Given the description of an element on the screen output the (x, y) to click on. 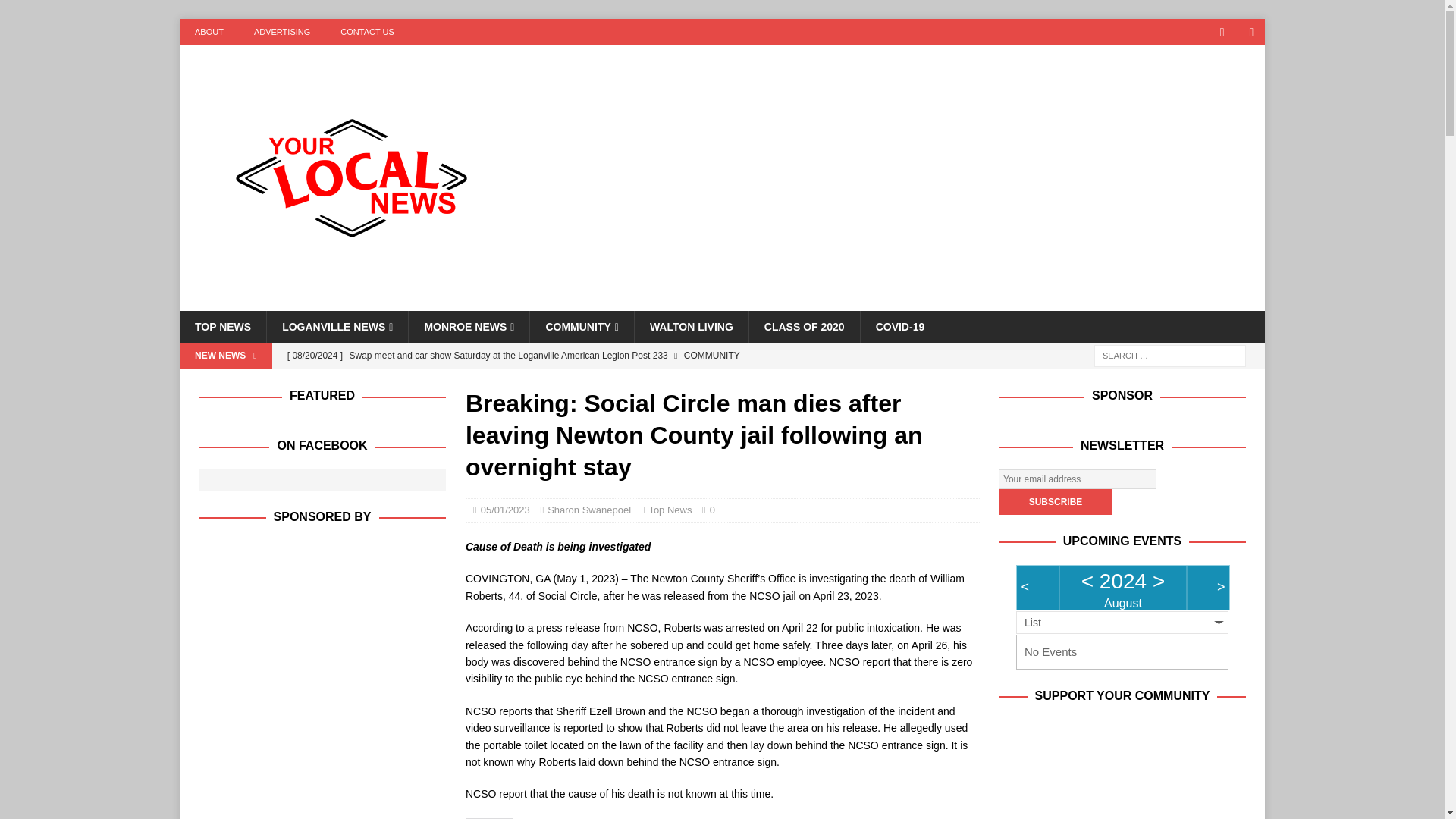
LOGANVILLE NEWS (336, 327)
ABOUT (208, 31)
TOP NEWS (222, 327)
ADVERTISING (281, 31)
Subscribe (1055, 501)
CONTACT US (366, 31)
